Given the description of an element on the screen output the (x, y) to click on. 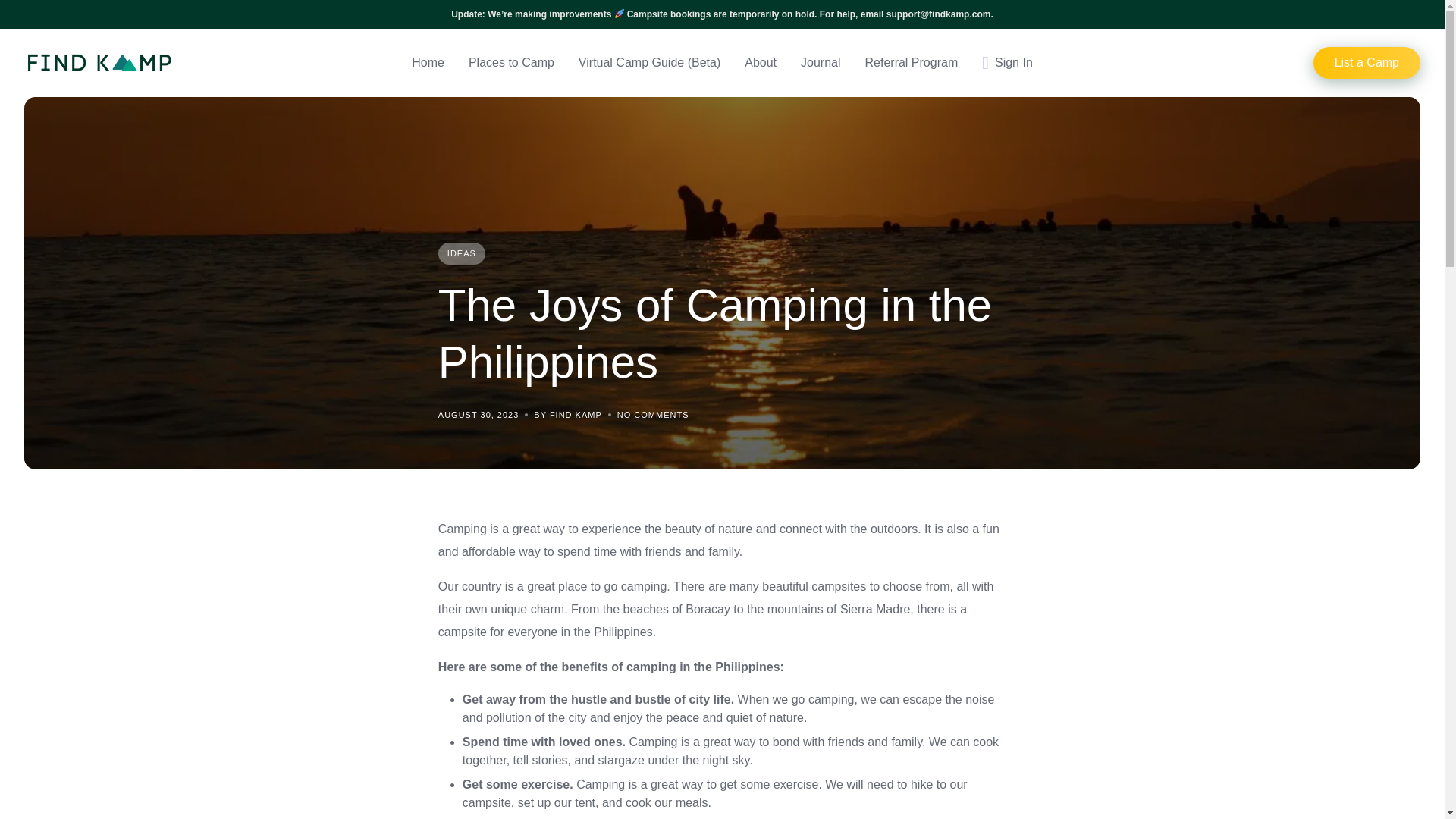
IDEAS (461, 253)
Referral Program (911, 63)
NO COMMENTS (652, 413)
Sign In (1006, 63)
Places to Camp (511, 63)
Journal (820, 63)
About (760, 63)
List a Camp (1367, 62)
Home (428, 63)
